Given the description of an element on the screen output the (x, y) to click on. 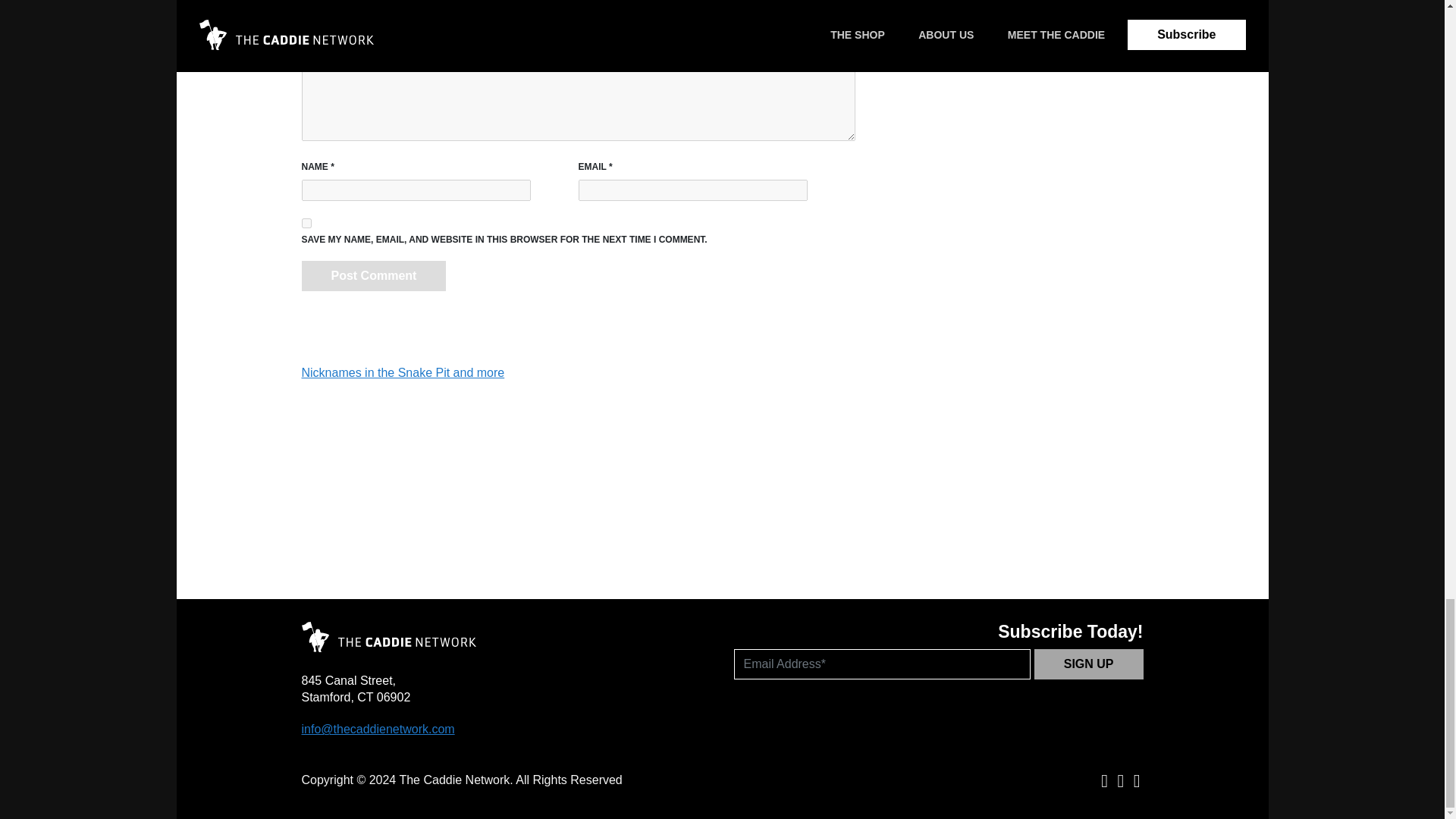
Nicknames in the Snake Pit and more (403, 372)
Nicknames in the Snake Pit and more (403, 372)
Group Created with Sketch. (388, 636)
Group Created with Sketch. (388, 647)
yes (306, 223)
Post Comment (373, 276)
Post Comment (373, 276)
